Given the description of an element on the screen output the (x, y) to click on. 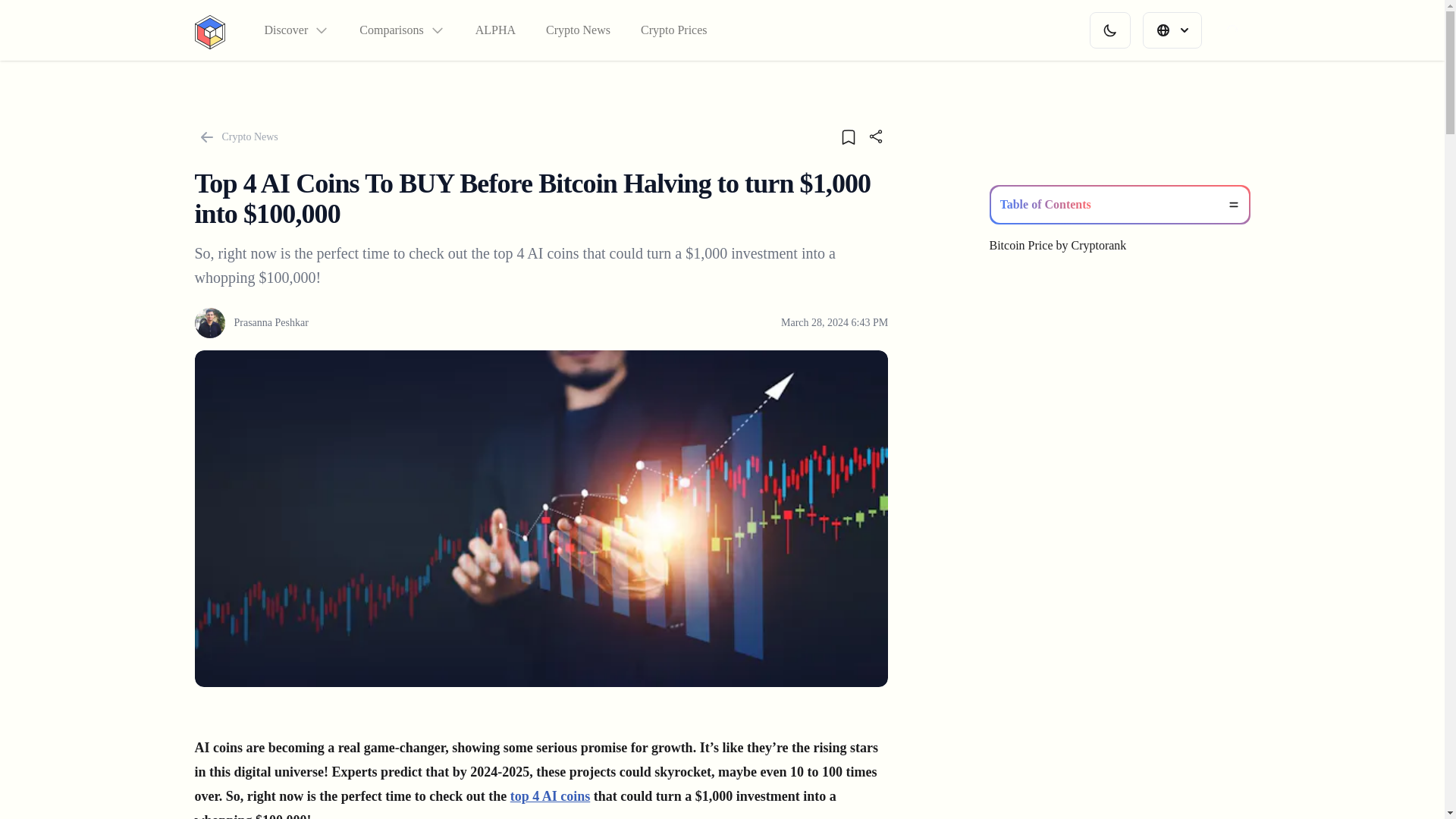
Discover (296, 30)
Switch to Dark Theme (1109, 30)
Comparisons (401, 30)
top 4 AI coins (551, 795)
Crypto Prices (673, 30)
ALPHA (495, 30)
CryptoTicker (208, 29)
Crypto News (235, 137)
Save (847, 137)
Crypto News (578, 30)
Prasanna Peshkar (250, 322)
